Given the description of an element on the screen output the (x, y) to click on. 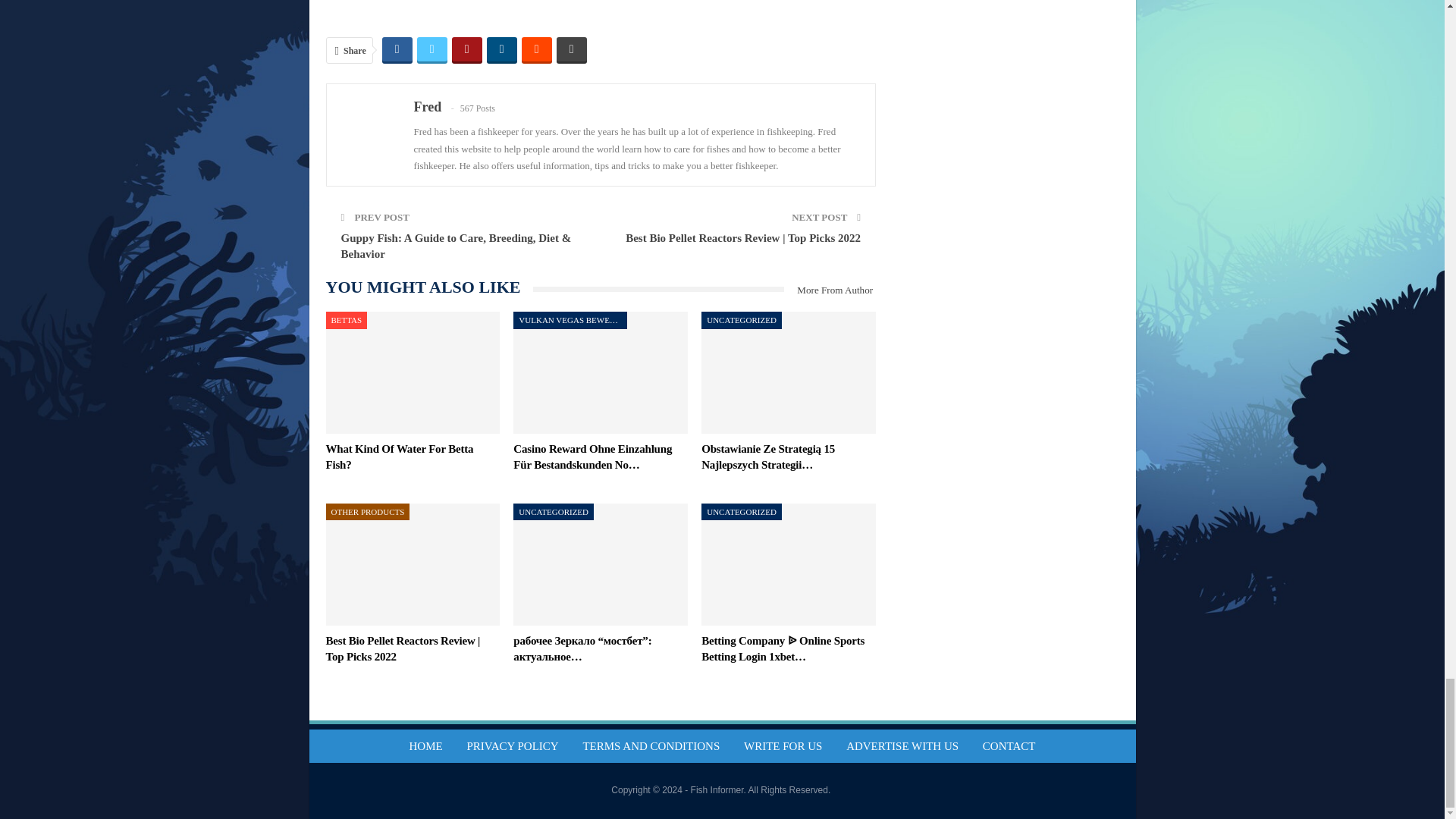
What Kind Of Water For Betta Fish? (400, 456)
What Kind Of Water For Betta Fish? (413, 373)
